Given the description of an element on the screen output the (x, y) to click on. 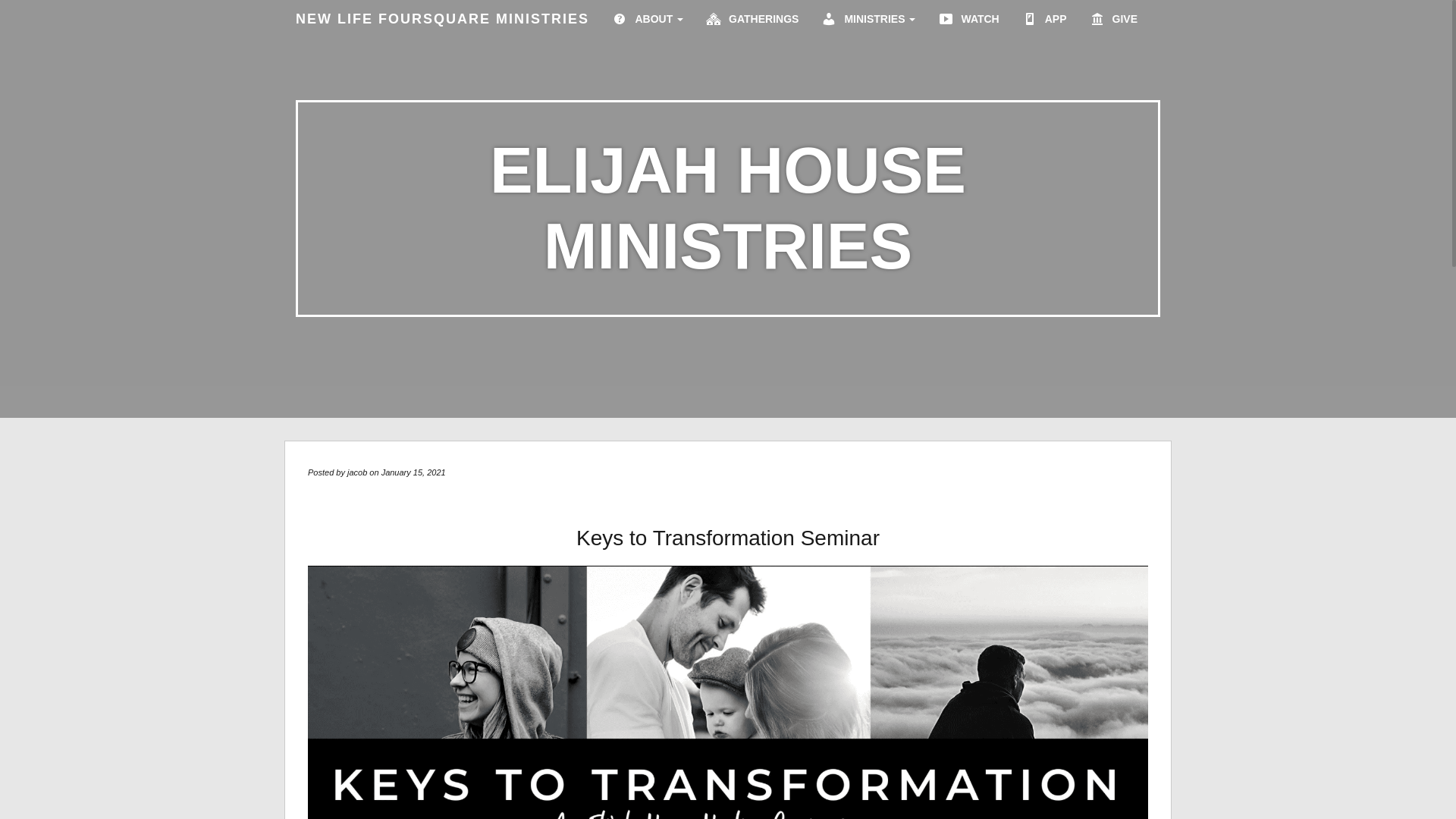
NEW LIFE FOURSQUARE MINISTRIES (441, 18)
GIVE (1112, 15)
Ministries (868, 15)
jacob (356, 471)
Watch (968, 15)
Gatherings (752, 15)
About (647, 15)
WATCH (968, 15)
MINISTRIES (868, 15)
GATHERINGS (752, 15)
